Given the description of an element on the screen output the (x, y) to click on. 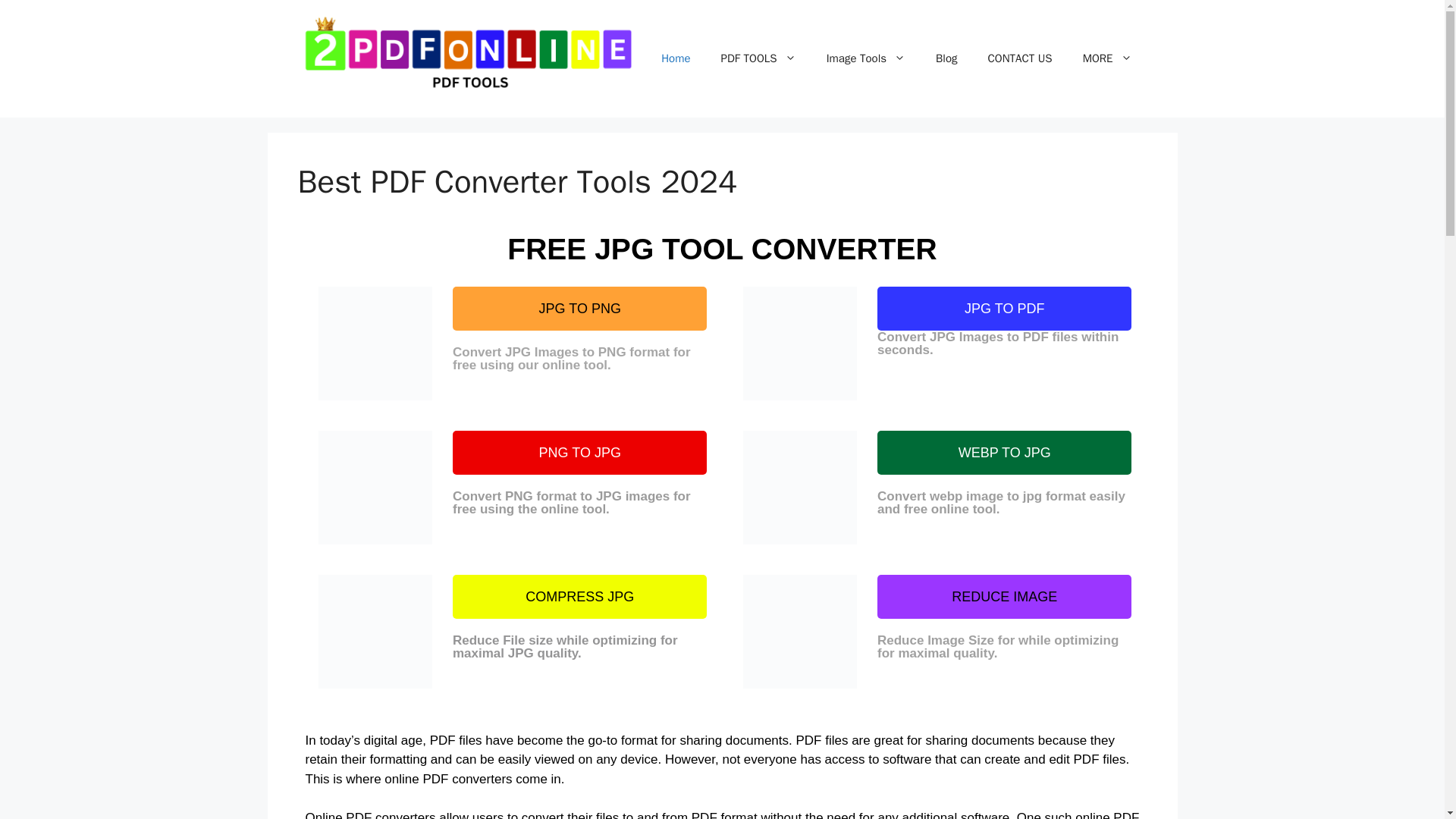
Home (675, 58)
Reduce Image Size for while optimizing for maximal quality. (997, 646)
MORE (1107, 58)
Blog (946, 58)
WEBP TO JPG (1004, 452)
Convert JPG Images to PDF files within seconds. (1004, 349)
Reduce File size while optimizing for maximal JPG quality. (565, 646)
JPG TO PNG (579, 308)
